Given the description of an element on the screen output the (x, y) to click on. 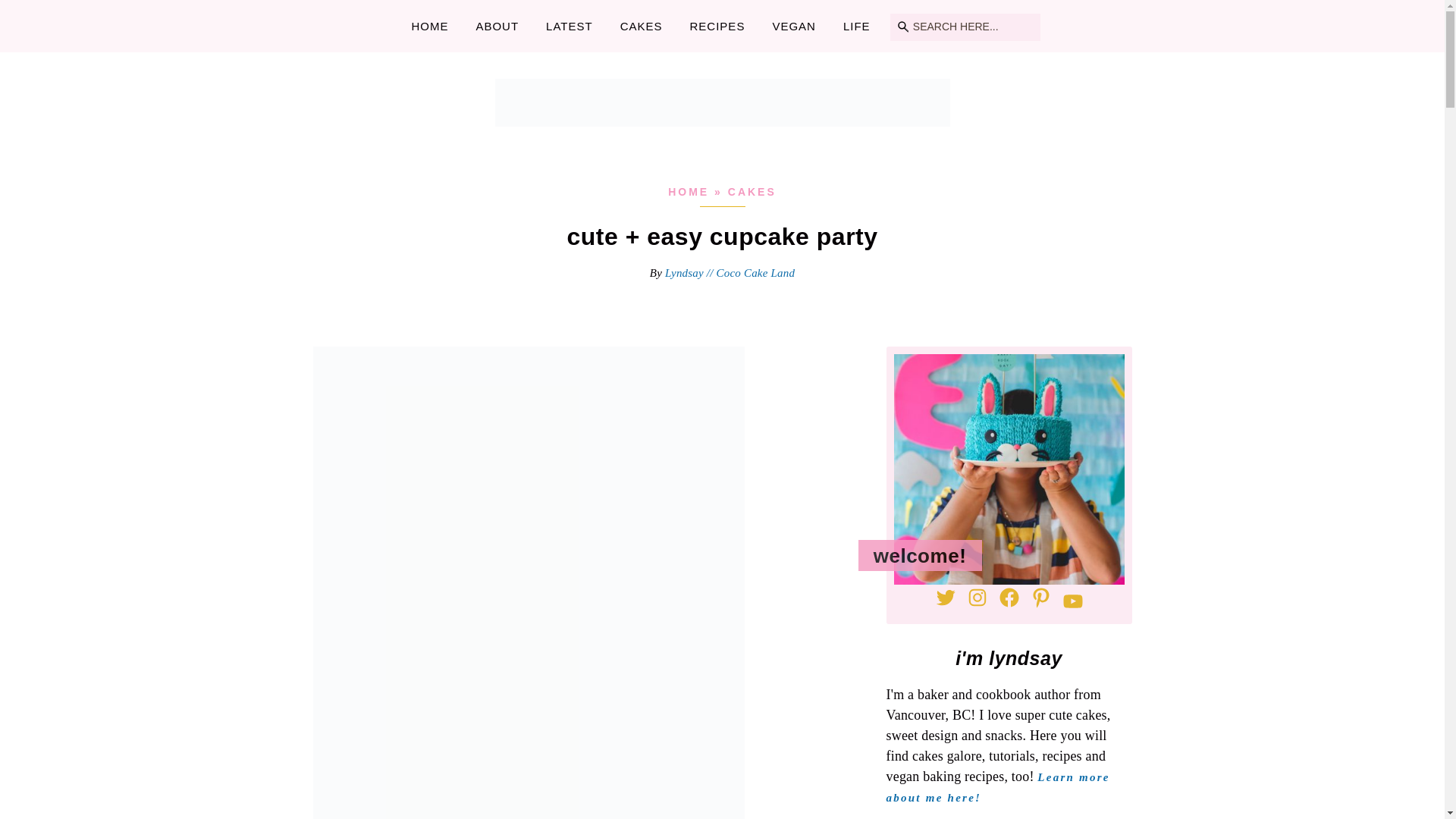
LIFE (856, 25)
Search (31, 11)
ABOUT (496, 25)
LATEST (569, 25)
VEGAN (793, 25)
RECIPES (717, 25)
CAKES (752, 191)
CAKES (641, 25)
HOME (429, 25)
